Given the description of an element on the screen output the (x, y) to click on. 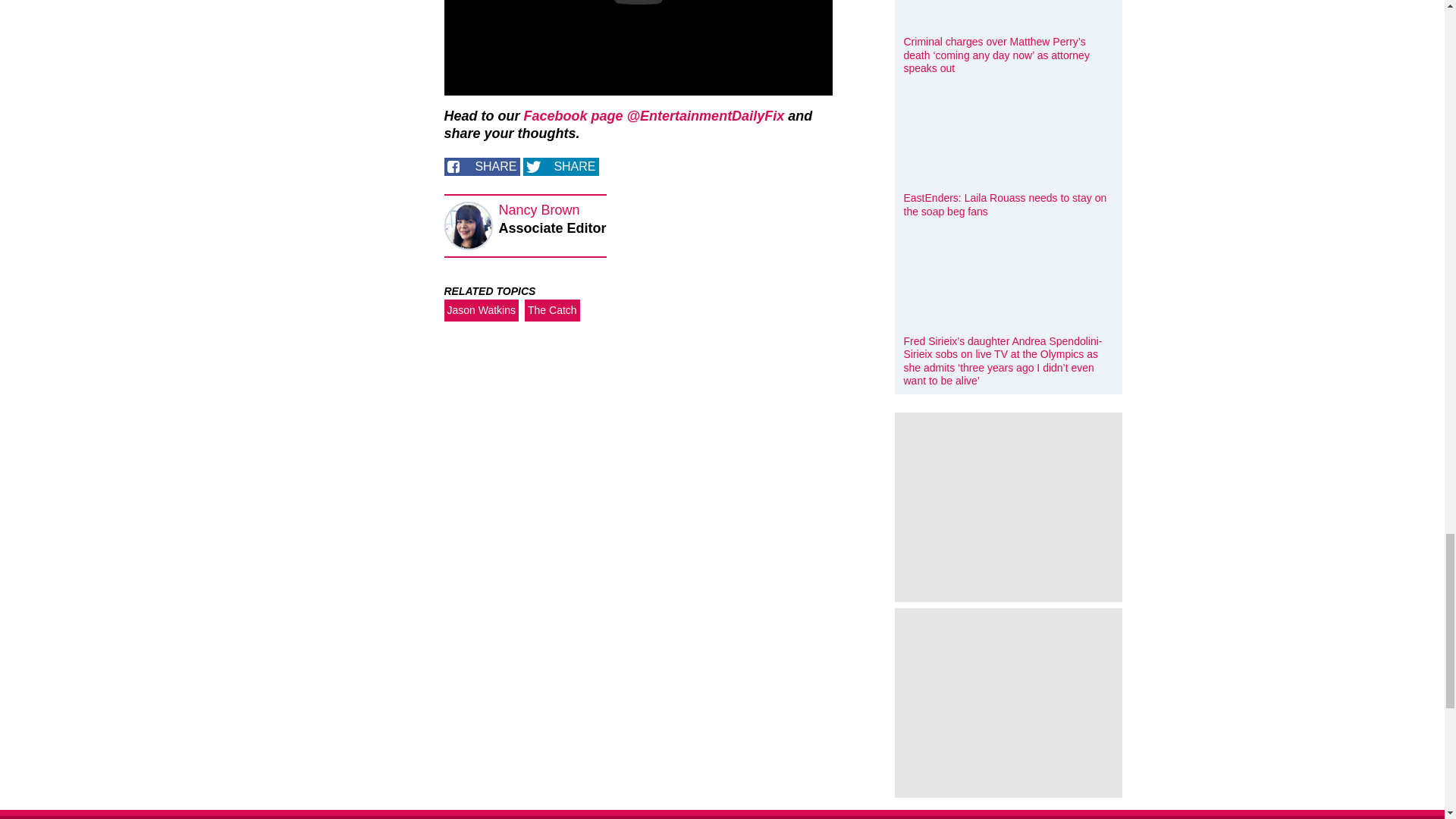
SHARE (481, 167)
SHARE (560, 167)
Nancy Brown (539, 209)
Jason Watkins (481, 310)
Play Video (637, 2)
The Catch (551, 310)
